Given the description of an element on the screen output the (x, y) to click on. 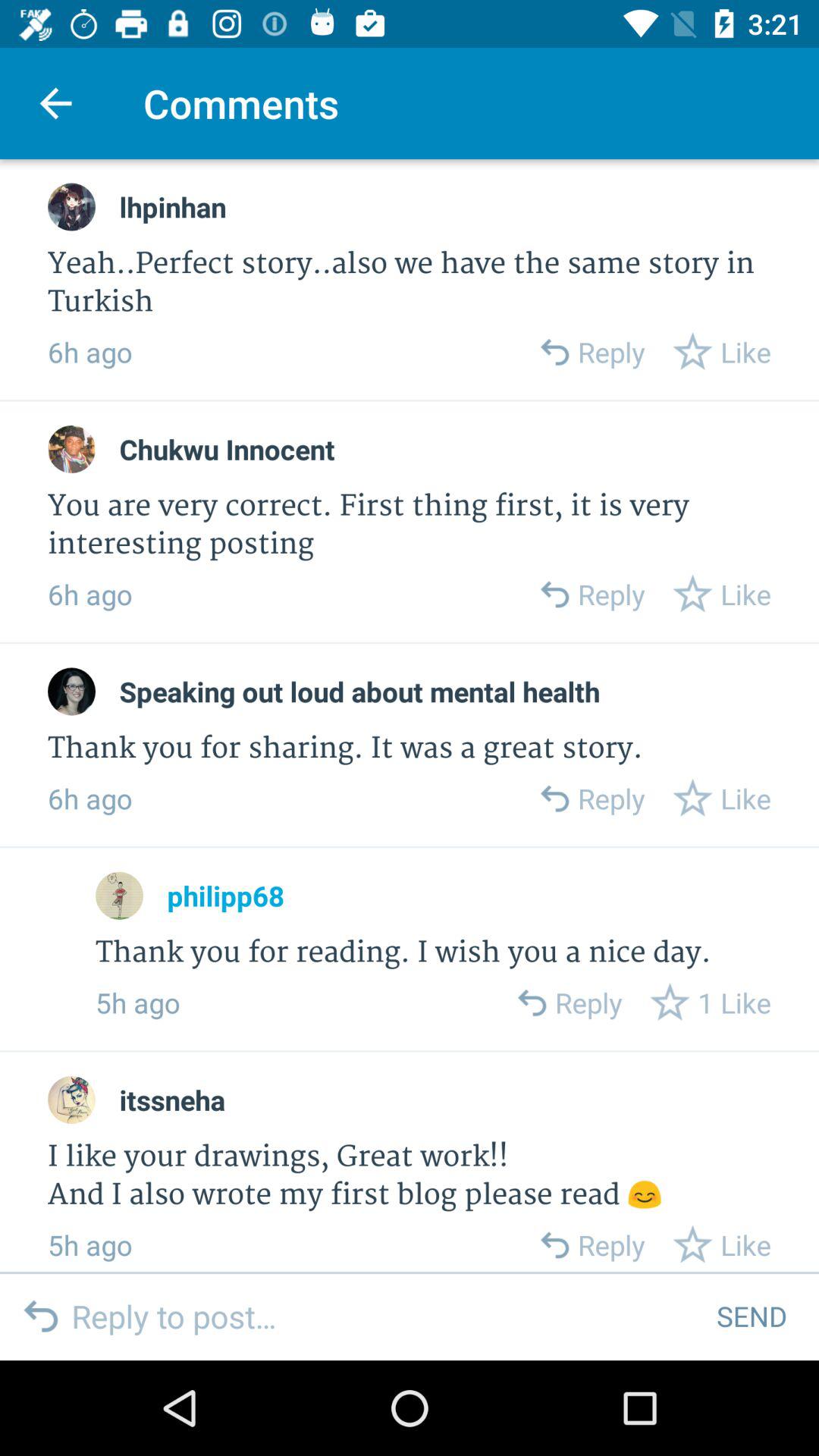
open commenter profile (119, 895)
